Given the description of an element on the screen output the (x, y) to click on. 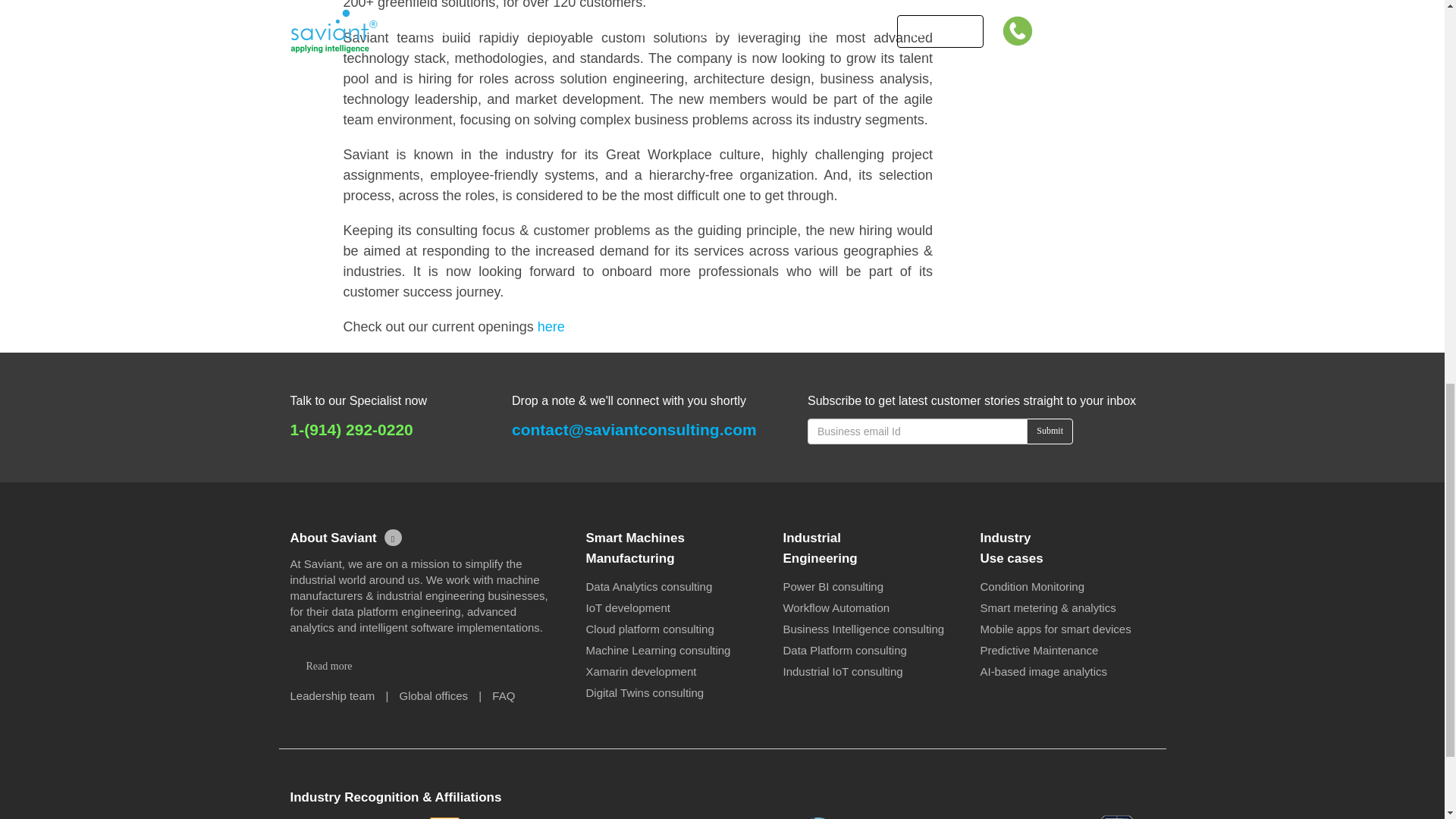
here (550, 326)
Saviant at Digital Manufacturing Week 2022, UK (1050, 49)
Submit (1049, 431)
